Given the description of an element on the screen output the (x, y) to click on. 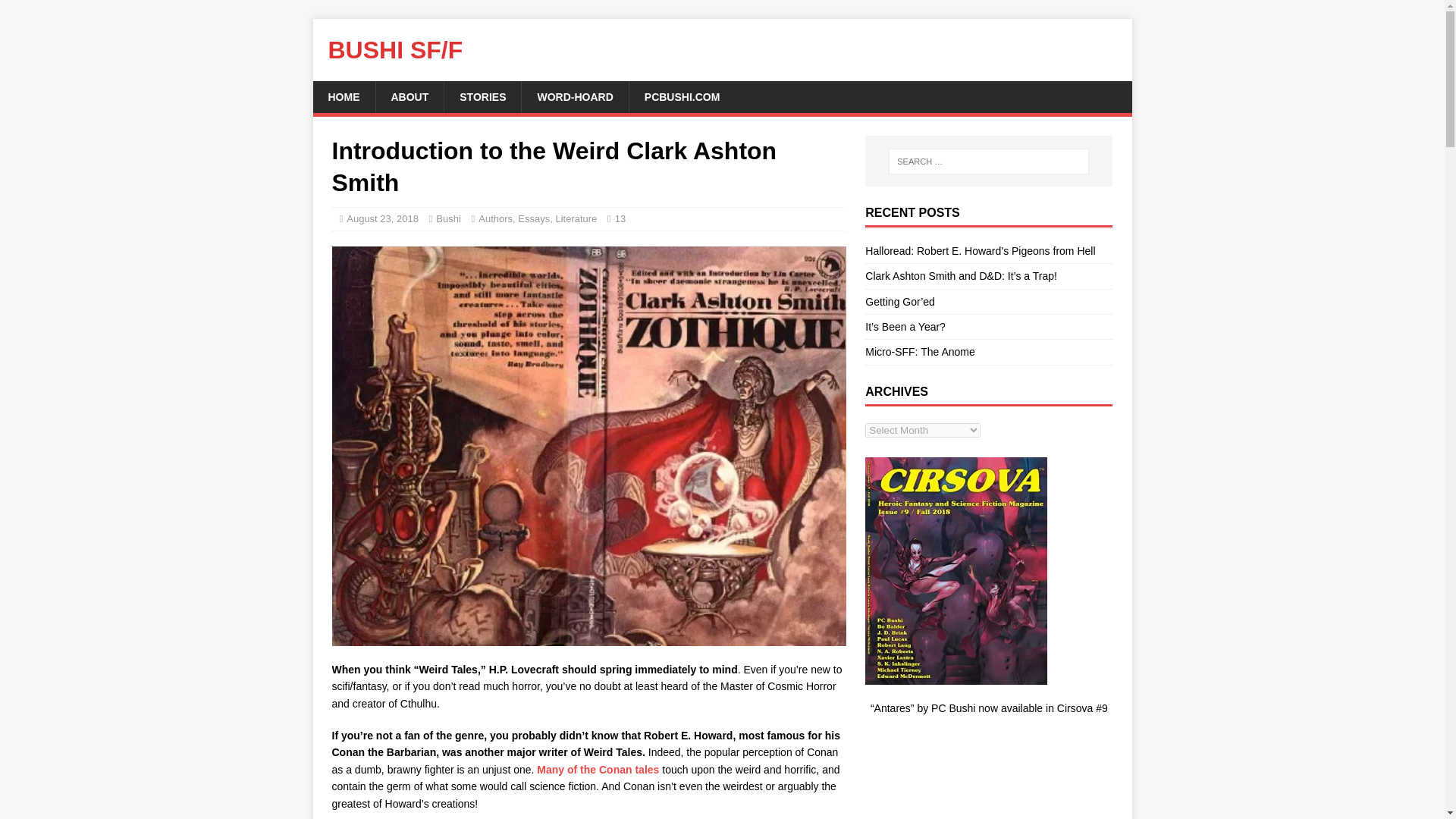
Many of the Conan tales (598, 769)
13 (620, 218)
Bushi (448, 218)
WORD-HOARD (574, 97)
Authors (495, 218)
13 (620, 218)
STORIES (482, 97)
PCBUSHI.COM (681, 97)
Essays (534, 218)
HOME (343, 97)
